Given the description of an element on the screen output the (x, y) to click on. 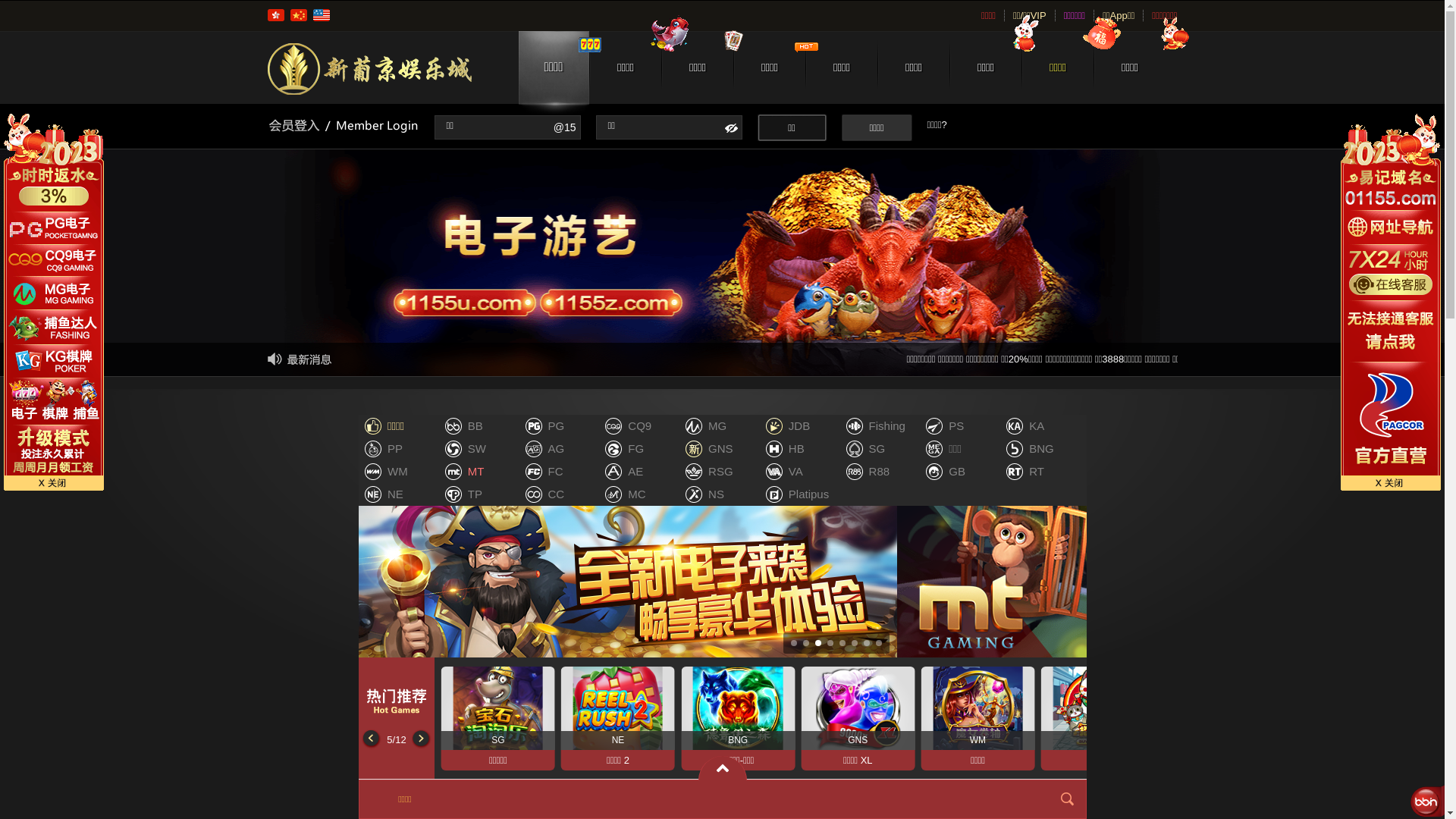
English Element type: hover (320, 15)
